Given the description of an element on the screen output the (x, y) to click on. 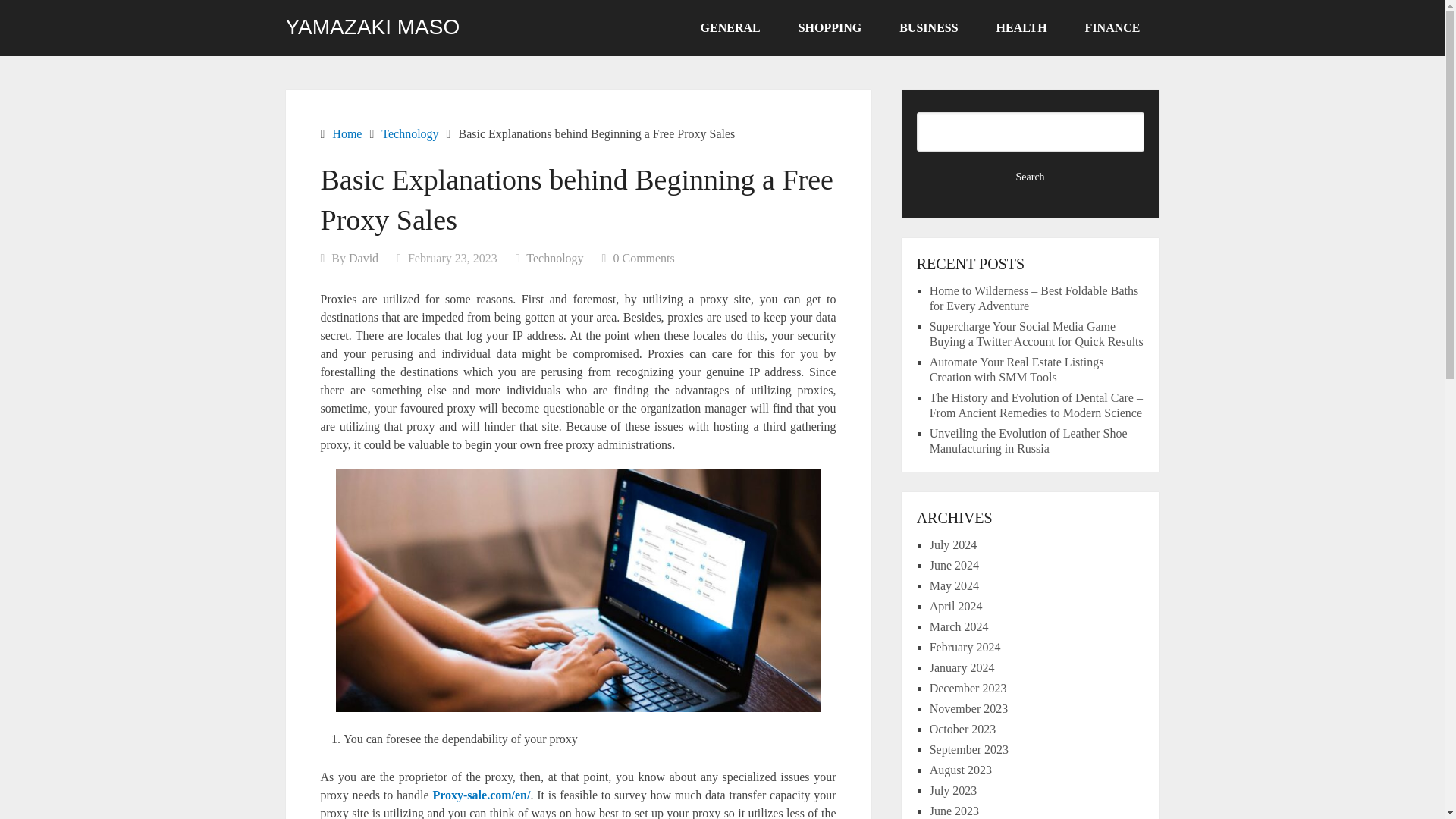
July 2024 (953, 544)
November 2023 (969, 707)
Technology (409, 133)
SHOPPING (829, 28)
February 2024 (965, 646)
December 2023 (968, 687)
BUSINESS (928, 28)
Posts by David (363, 257)
June 2024 (954, 564)
FINANCE (1111, 28)
Search (1030, 176)
Home (346, 133)
August 2023 (960, 769)
March 2024 (959, 626)
